Given the description of an element on the screen output the (x, y) to click on. 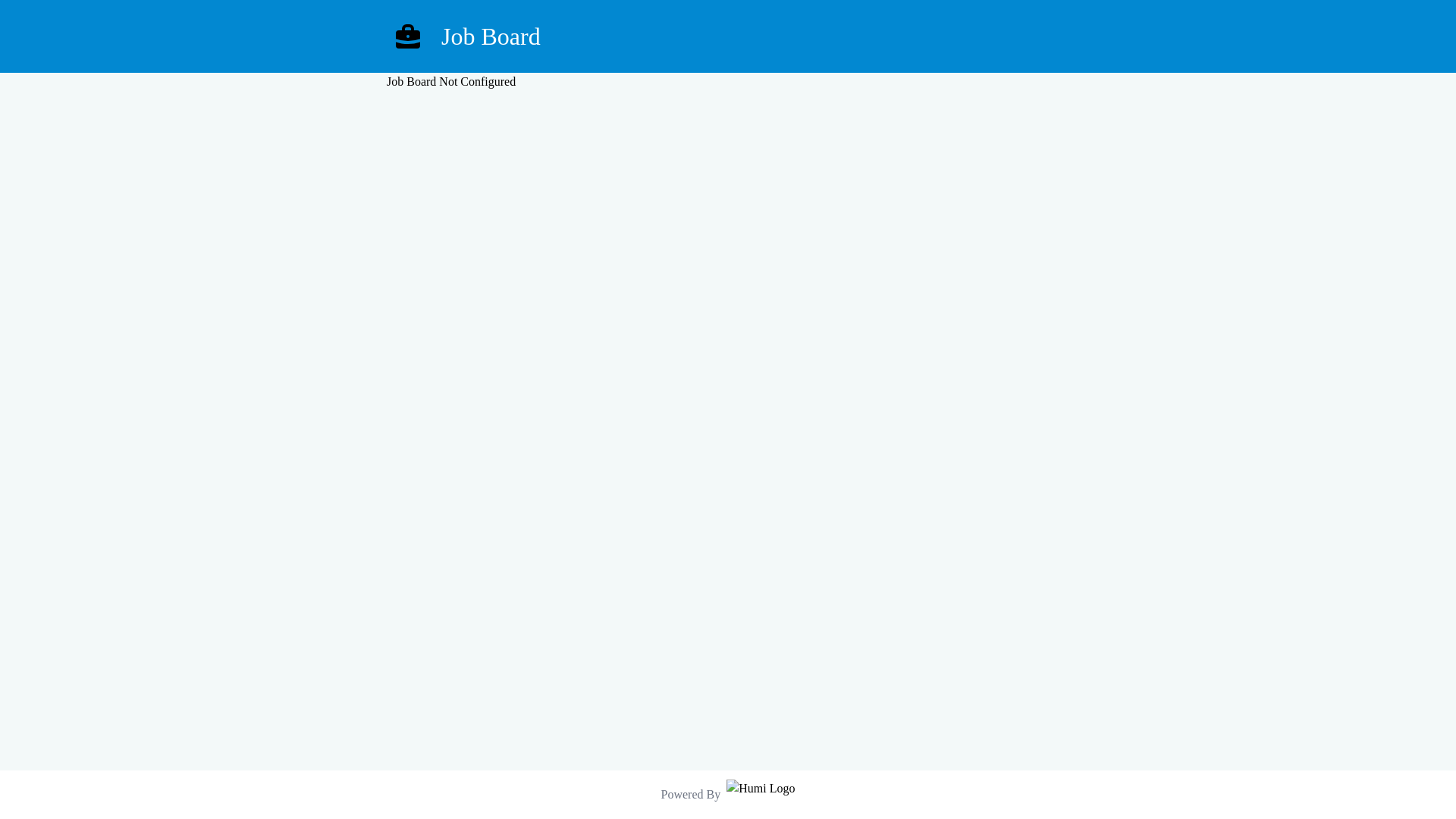
Powered By Element type: text (728, 794)
Job Board Element type: text (727, 36)
